Given the description of an element on the screen output the (x, y) to click on. 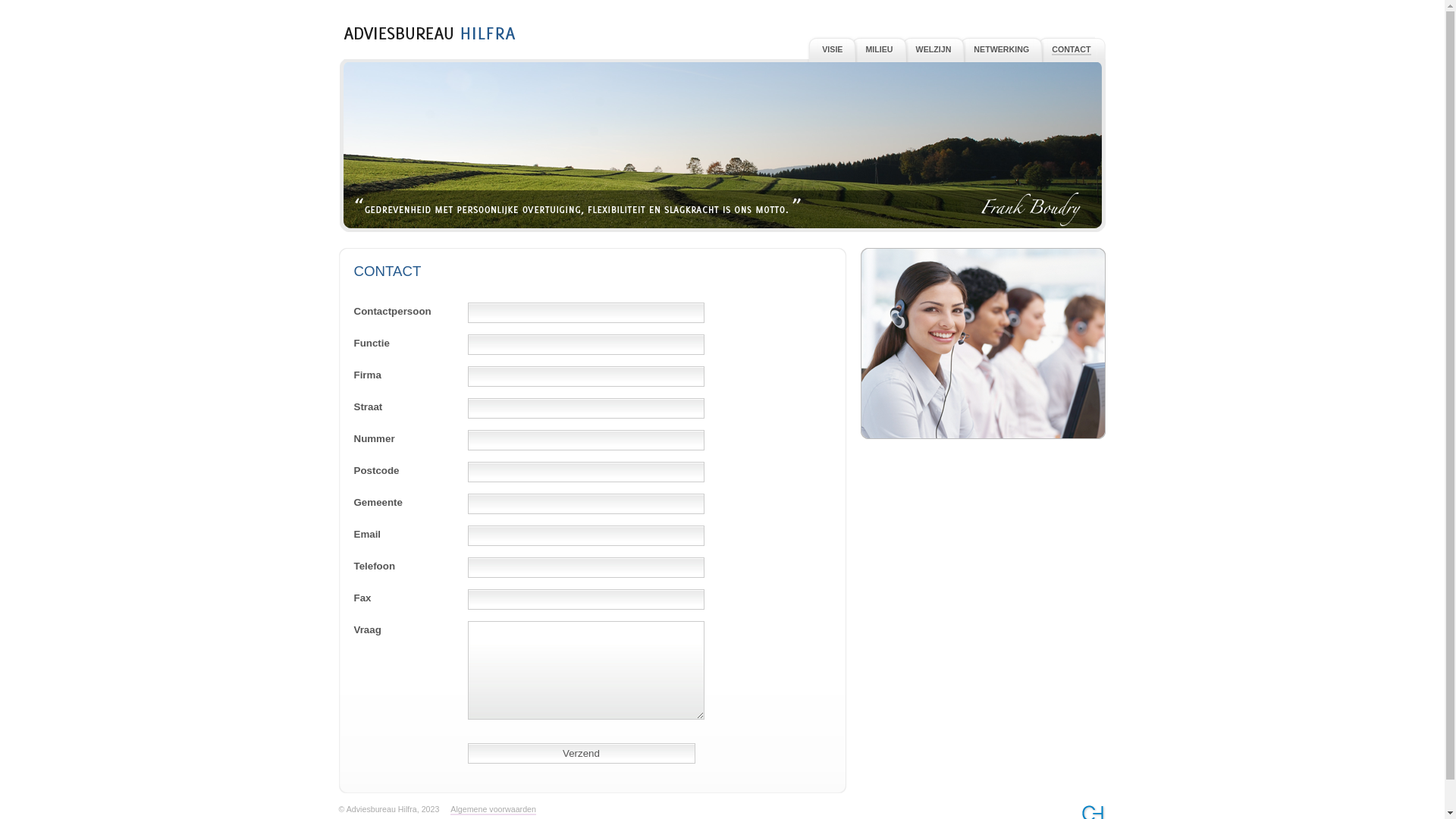
MILIEU Element type: text (878, 48)
CONTACT Element type: text (1070, 49)
VISIE Element type: text (832, 48)
NETWERKING Element type: text (1001, 48)
WELZIJN Element type: text (933, 48)
Verzend Element type: text (580, 753)
Algemene voorwaarden Element type: text (493, 809)
